Given the description of an element on the screen output the (x, y) to click on. 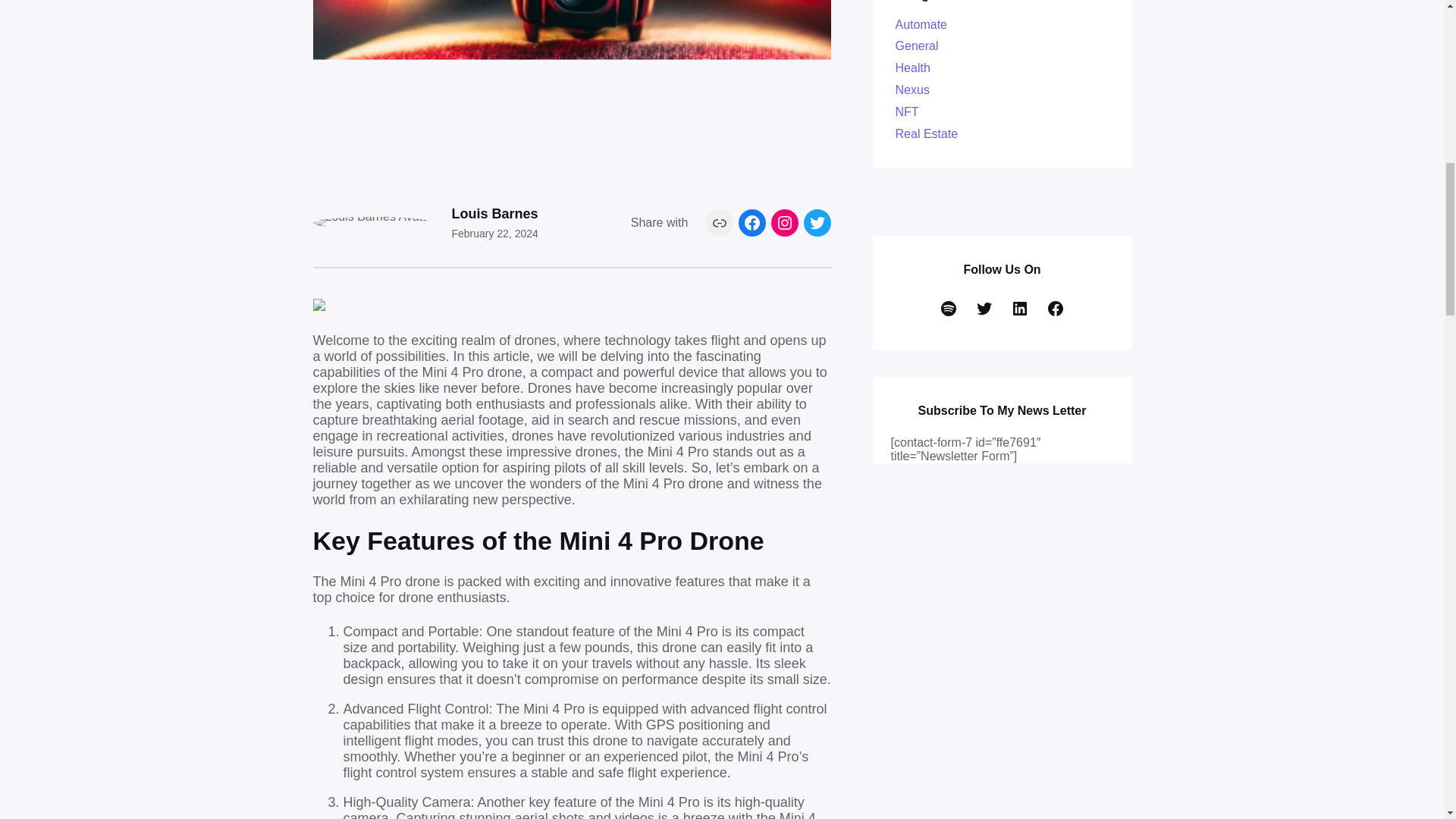
Facebook (751, 222)
Health (912, 67)
Automate (921, 24)
NFT (906, 111)
Nexus (912, 89)
Link (719, 222)
Instagram (784, 222)
Twitter (817, 222)
Twitter (984, 308)
LinkedIn (1019, 308)
